Given the description of an element on the screen output the (x, y) to click on. 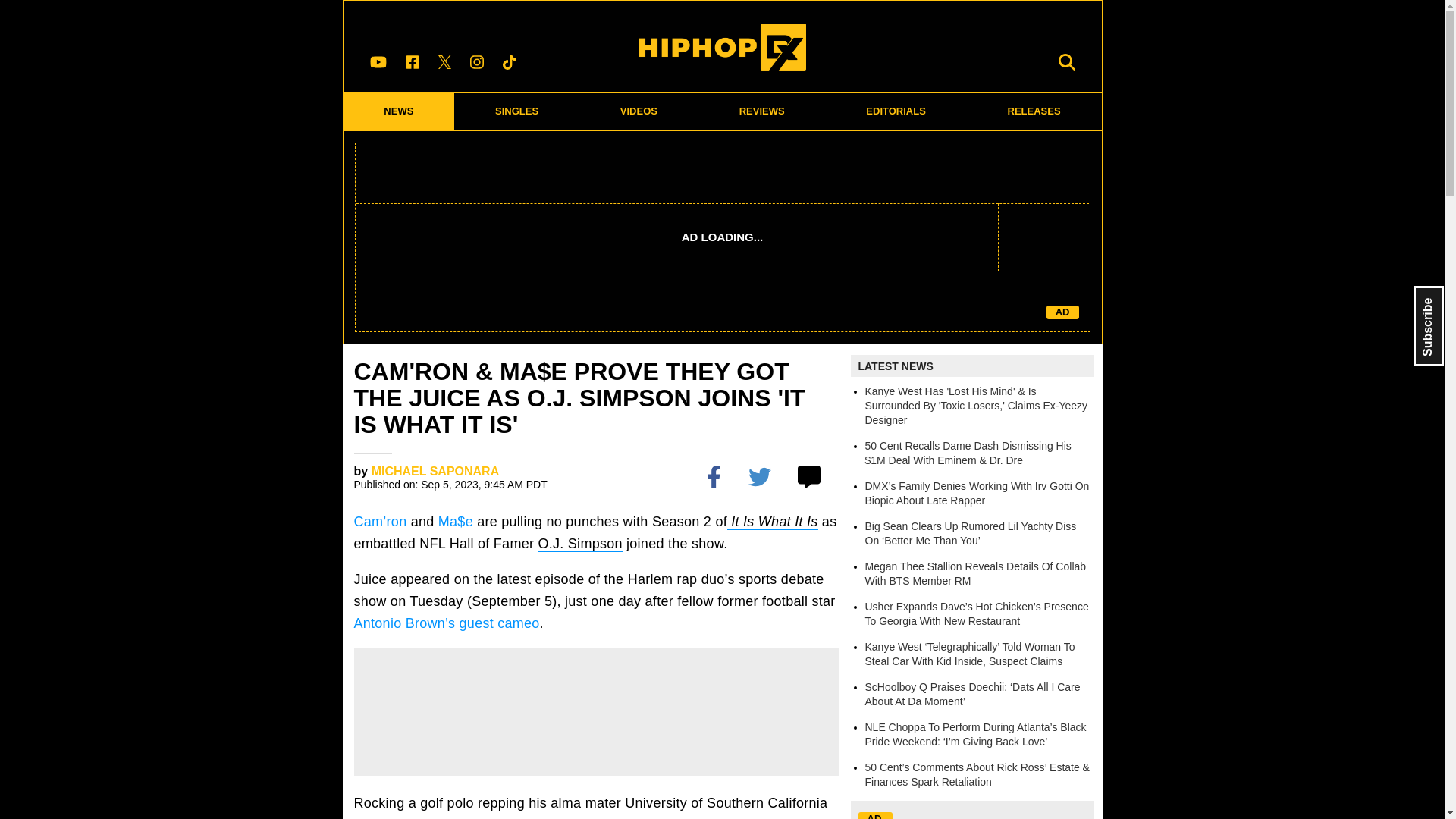
REVIEWS (761, 111)
EDITORIALS (895, 111)
It Is What It Is (772, 521)
MICHAEL SAPONARA (435, 471)
RELEASES (1034, 111)
O.J. Simpson (579, 544)
VIDEOS (638, 111)
NEWS (398, 111)
SINGLES (516, 111)
